Given the description of an element on the screen output the (x, y) to click on. 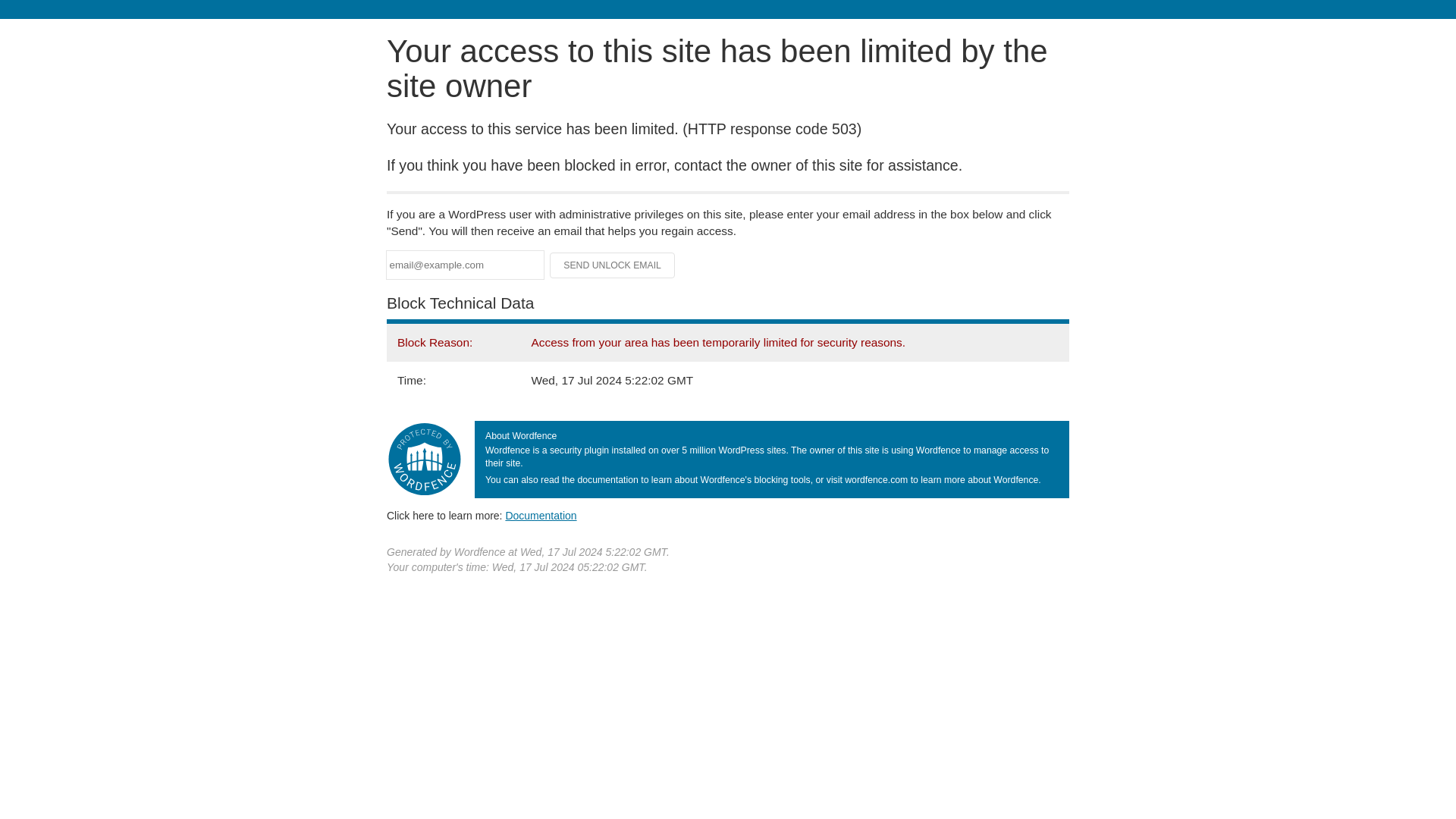
Send Unlock Email (612, 265)
Send Unlock Email (612, 265)
Documentation (540, 515)
